Given the description of an element on the screen output the (x, y) to click on. 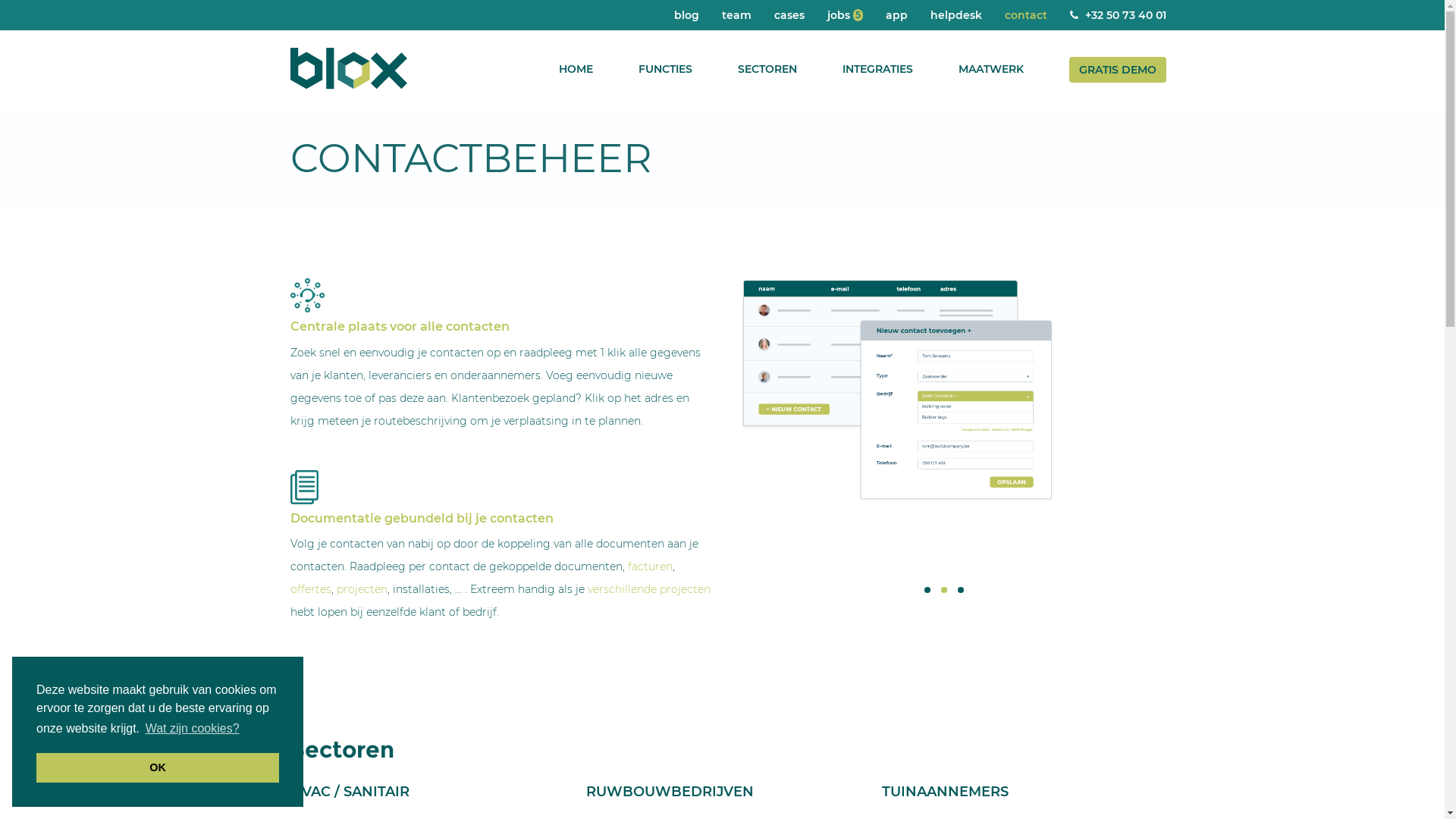
offertes Element type: text (309, 589)
projecten Element type: text (361, 589)
MAATWERK Element type: text (990, 68)
SECTOREN Element type: text (766, 68)
blog Element type: text (686, 15)
jobs 5 Element type: text (844, 15)
team Element type: text (735, 15)
helpdesk Element type: text (956, 15)
FUNCTIES Element type: text (665, 68)
HOME Element type: text (575, 68)
INTEGRATIES Element type: text (876, 68)
GRATIS DEMO Element type: text (1117, 69)
Wat zijn cookies? Element type: text (192, 728)
+32 50 73 40 01 Element type: text (1117, 15)
app Element type: text (895, 15)
OK Element type: text (157, 767)
facturen Element type: text (649, 566)
verschillende projecten Element type: text (647, 589)
cases Element type: text (788, 15)
contact Element type: text (1025, 15)
